Given the description of an element on the screen output the (x, y) to click on. 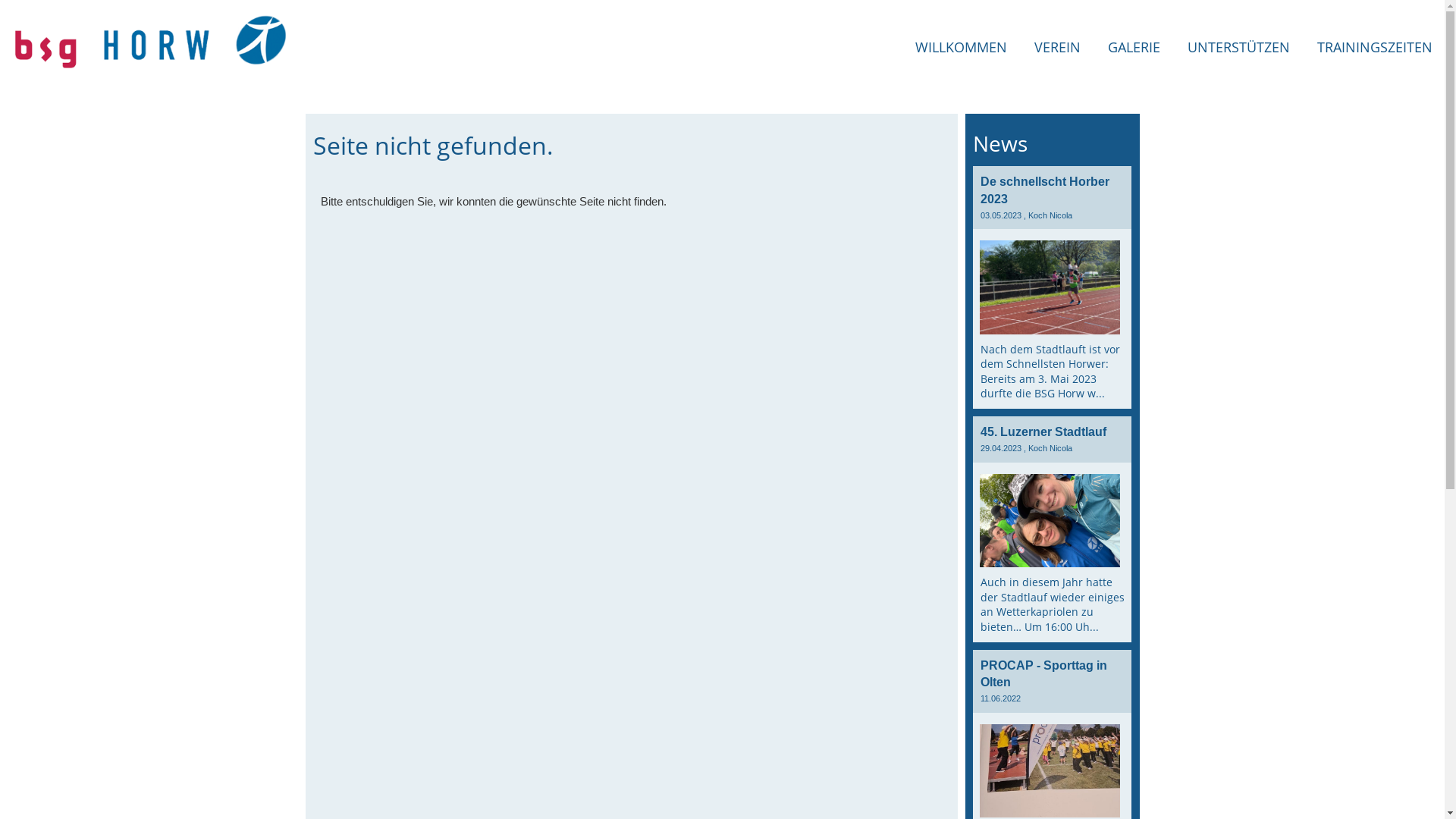
VEREIN Element type: text (1057, 47)
TRAININGSZEITEN Element type: text (1374, 47)
GALERIE Element type: text (1133, 47)
WILLKOMMEN Element type: text (961, 47)
